Given the description of an element on the screen output the (x, y) to click on. 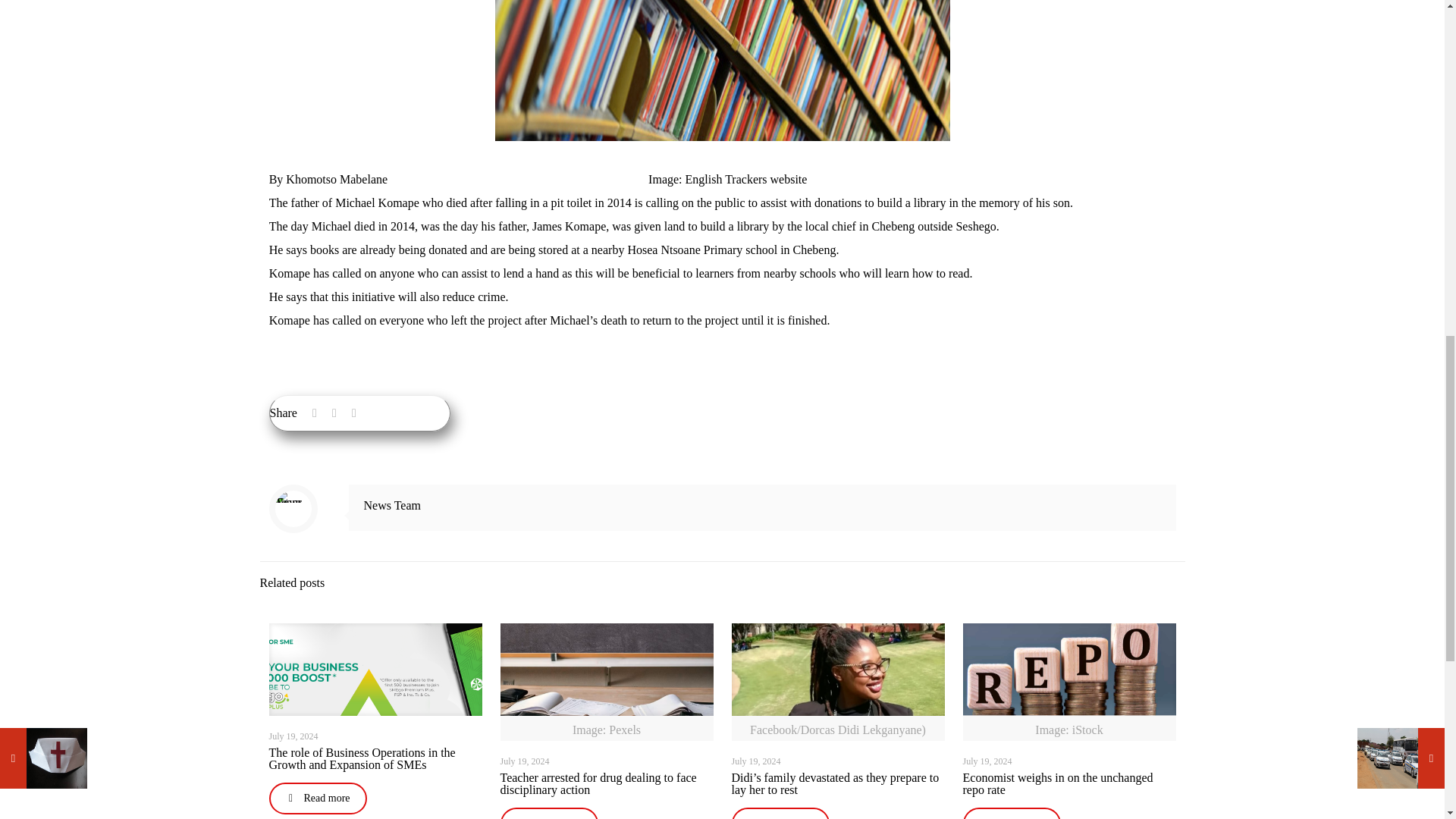
News Team (392, 504)
Read more (316, 798)
Read more (549, 813)
